Given the description of an element on the screen output the (x, y) to click on. 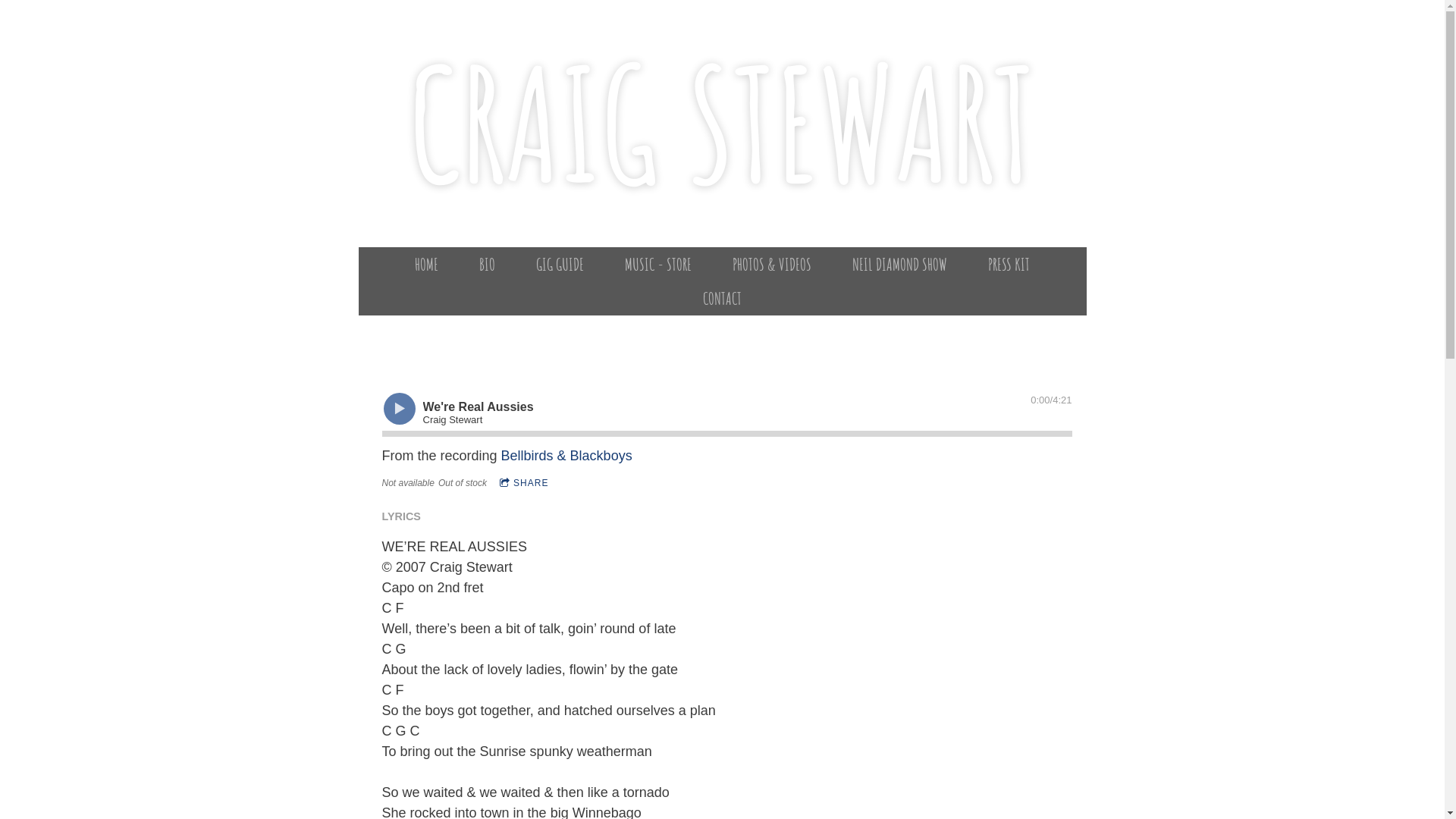
HOME Element type: text (426, 264)
GIG GUIDE Element type: text (559, 264)
MUSIC - STORE Element type: text (658, 264)
CRAIG STEWART Element type: text (721, 175)
PHOTOS & VIDEOS Element type: text (771, 264)
PRESS KIT Element type: text (1008, 264)
CONTACT Element type: text (722, 297)
Bellbirds & Blackboys Element type: text (566, 454)
BIO Element type: text (486, 264)
NEIL DIAMOND SHOW Element type: text (899, 264)
SHARE Element type: text (523, 482)
Play Element type: hover (398, 407)
